Given the description of an element on the screen output the (x, y) to click on. 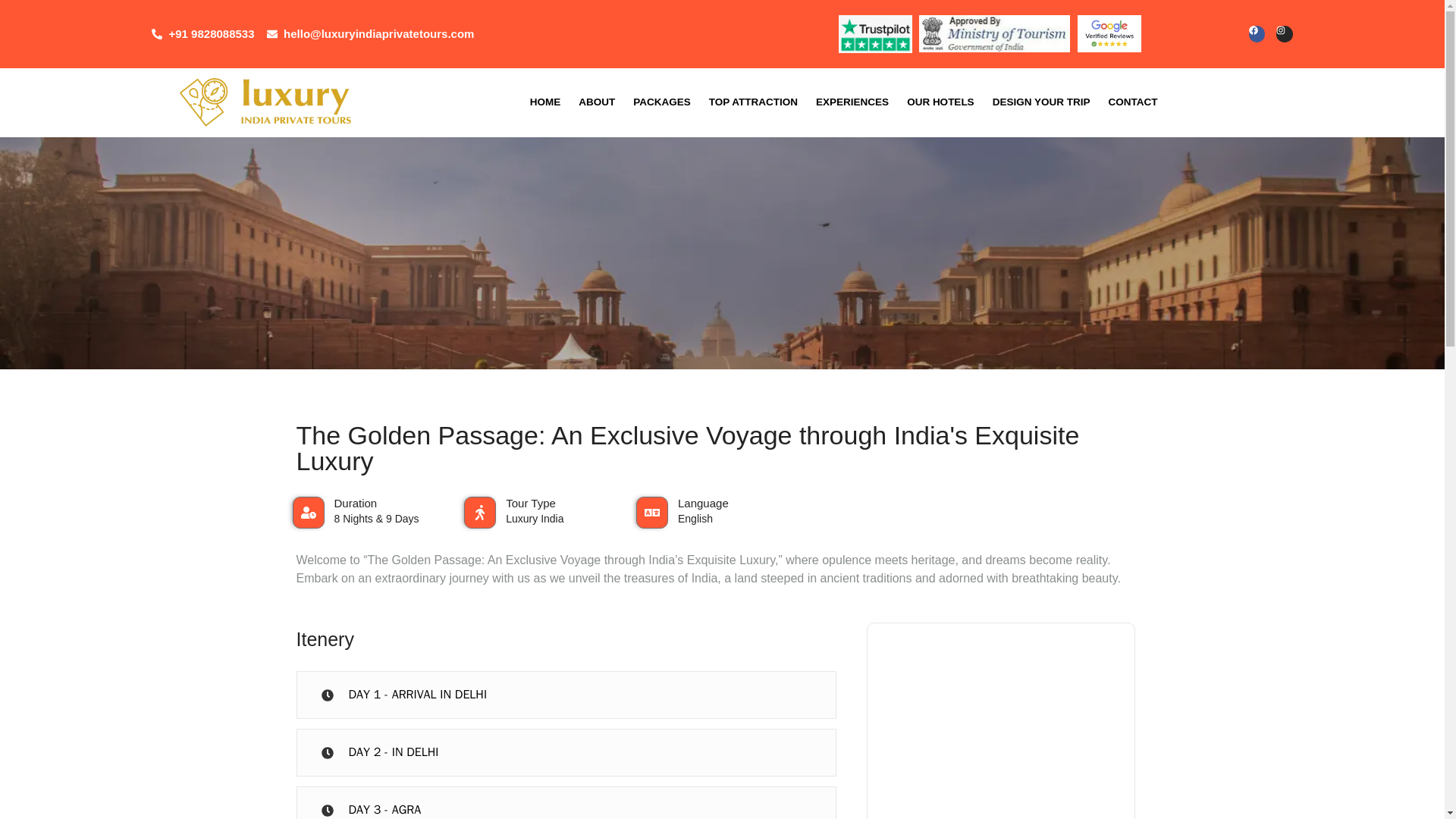
PACKAGES (662, 102)
OUR HOTELS (941, 102)
EXPERIENCES (852, 102)
Luxury India Private Tours (264, 101)
DESIGN YOUR TRIP (1041, 102)
CONTACT (1132, 102)
TOP ATTRACTION (753, 102)
ABOUT (596, 102)
HOME (545, 102)
